Given the description of an element on the screen output the (x, y) to click on. 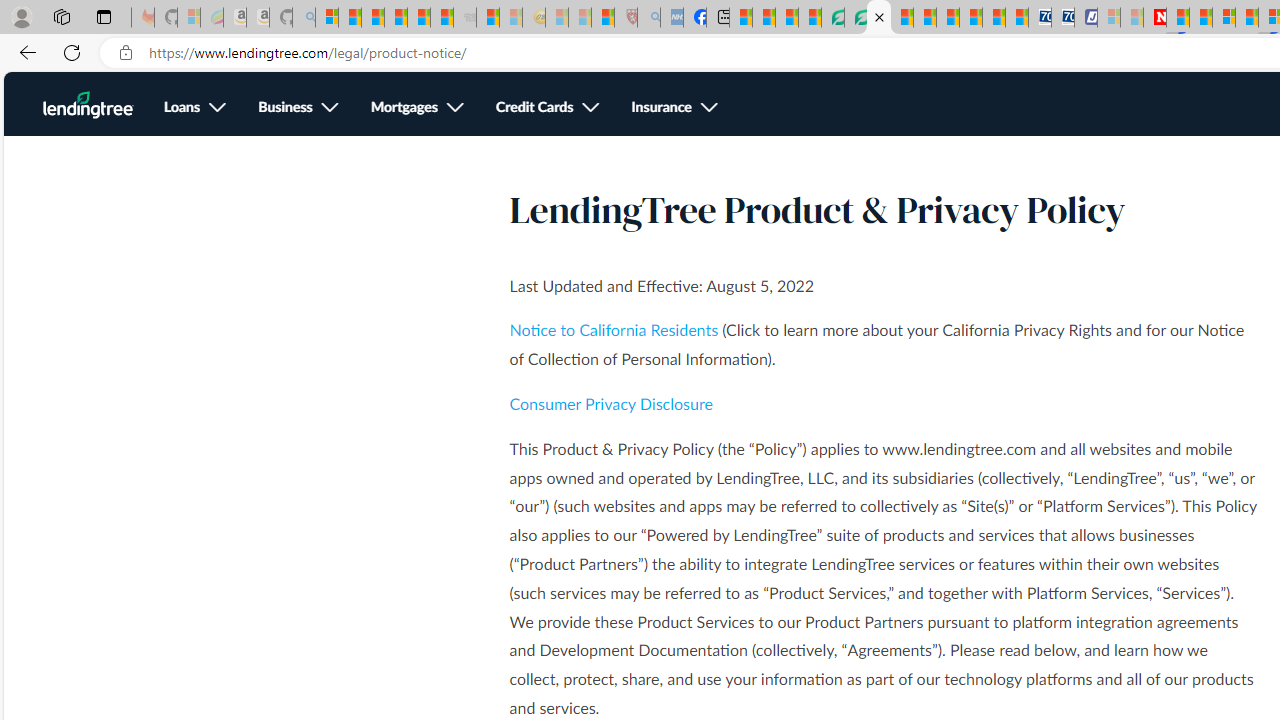
Notice to California Residents (614, 331)
Mortgages, see more (416, 107)
Business, see more (298, 107)
LendingTree Homepage Logo (88, 105)
LendingTree - Compare Lenders (832, 17)
The Weather Channel - MSN (372, 17)
LendingTree Product & Privacy Policy (878, 17)
Terms of Use Agreement (855, 17)
